Given the description of an element on the screen output the (x, y) to click on. 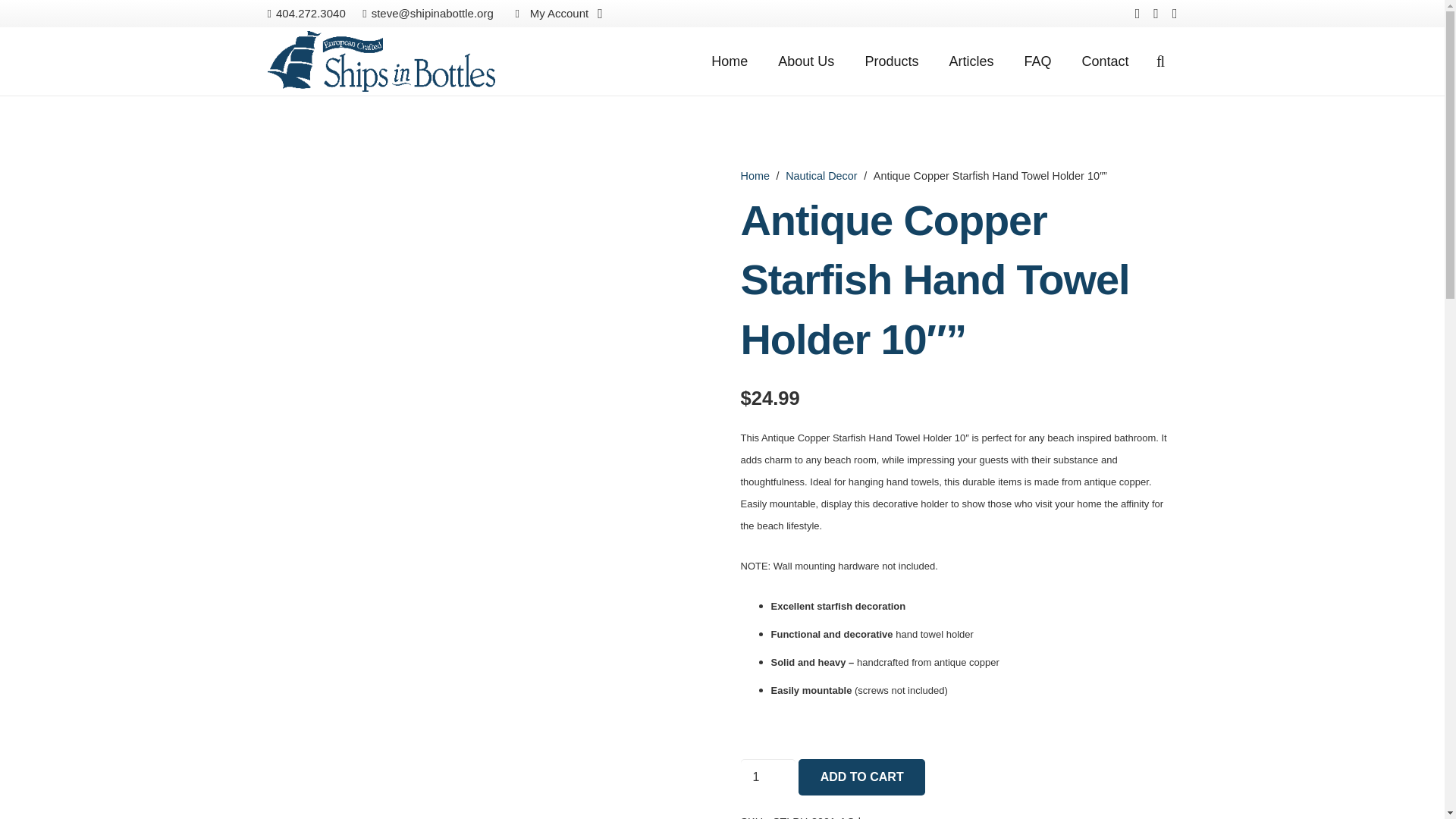
Products (890, 61)
Contact (1103, 61)
Nautical Decor (821, 175)
Home (753, 175)
Articles (971, 61)
1 (766, 777)
404.272.3040 (305, 12)
Home (728, 61)
About Us (805, 61)
ADD TO CART (861, 777)
